Given the description of an element on the screen output the (x, y) to click on. 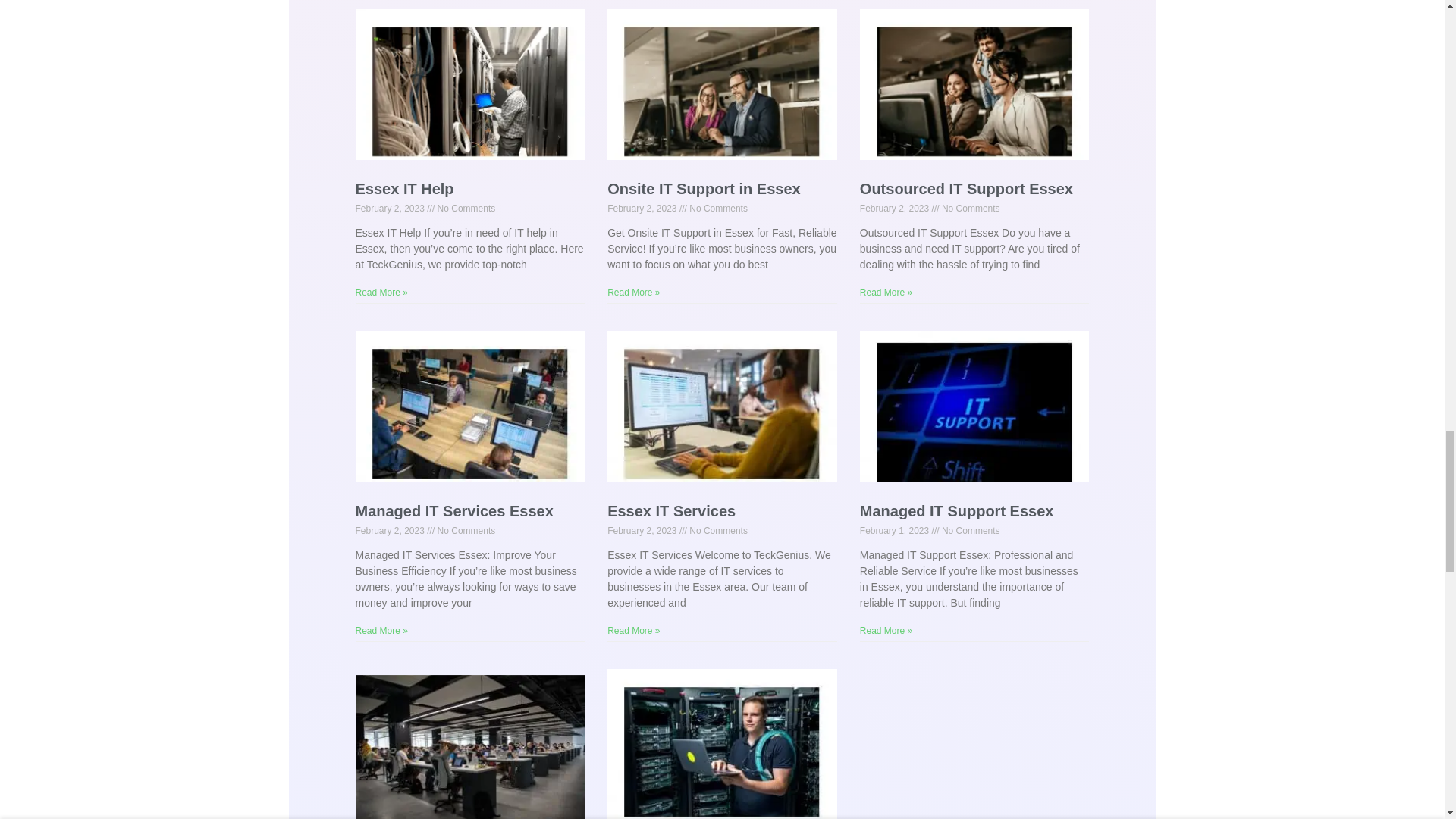
5 Benefits of Web Filtering for your Business 161 (973, 413)
5 Benefits of Web Filtering for your Business 156 (468, 91)
5 Benefits of Web Filtering for your Business 159 (468, 413)
5 Benefits of Web Filtering for your Business 157 (720, 91)
5 Benefits of Web Filtering for your Business 158 (973, 91)
5 Benefits of Web Filtering for your Business 163 (720, 739)
5 Benefits of Web Filtering for your Business 162 (468, 746)
5 Benefits of Web Filtering for your Business 160 (720, 413)
